Given the description of an element on the screen output the (x, y) to click on. 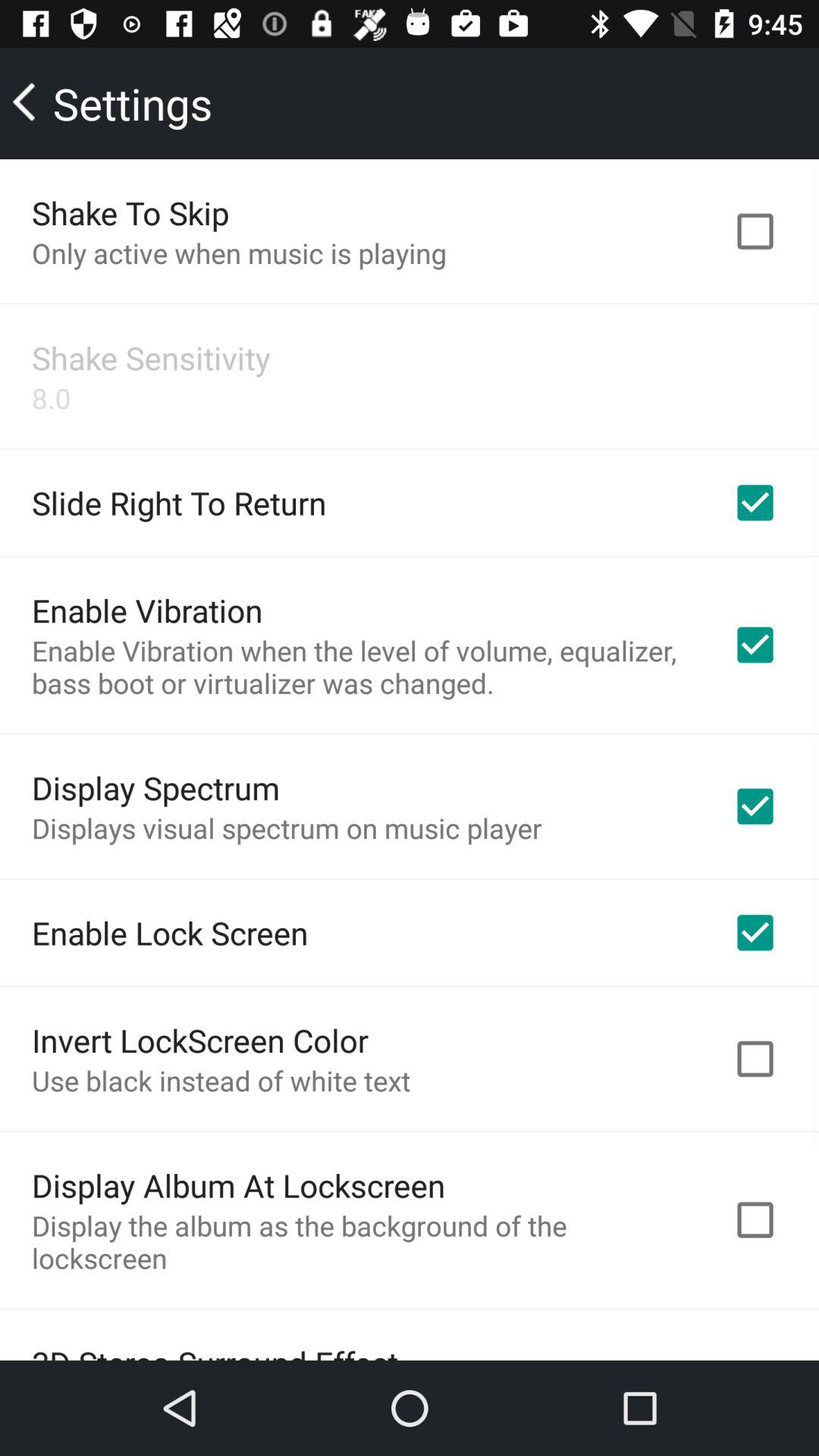
launch shake to skip icon (130, 212)
